Given the description of an element on the screen output the (x, y) to click on. 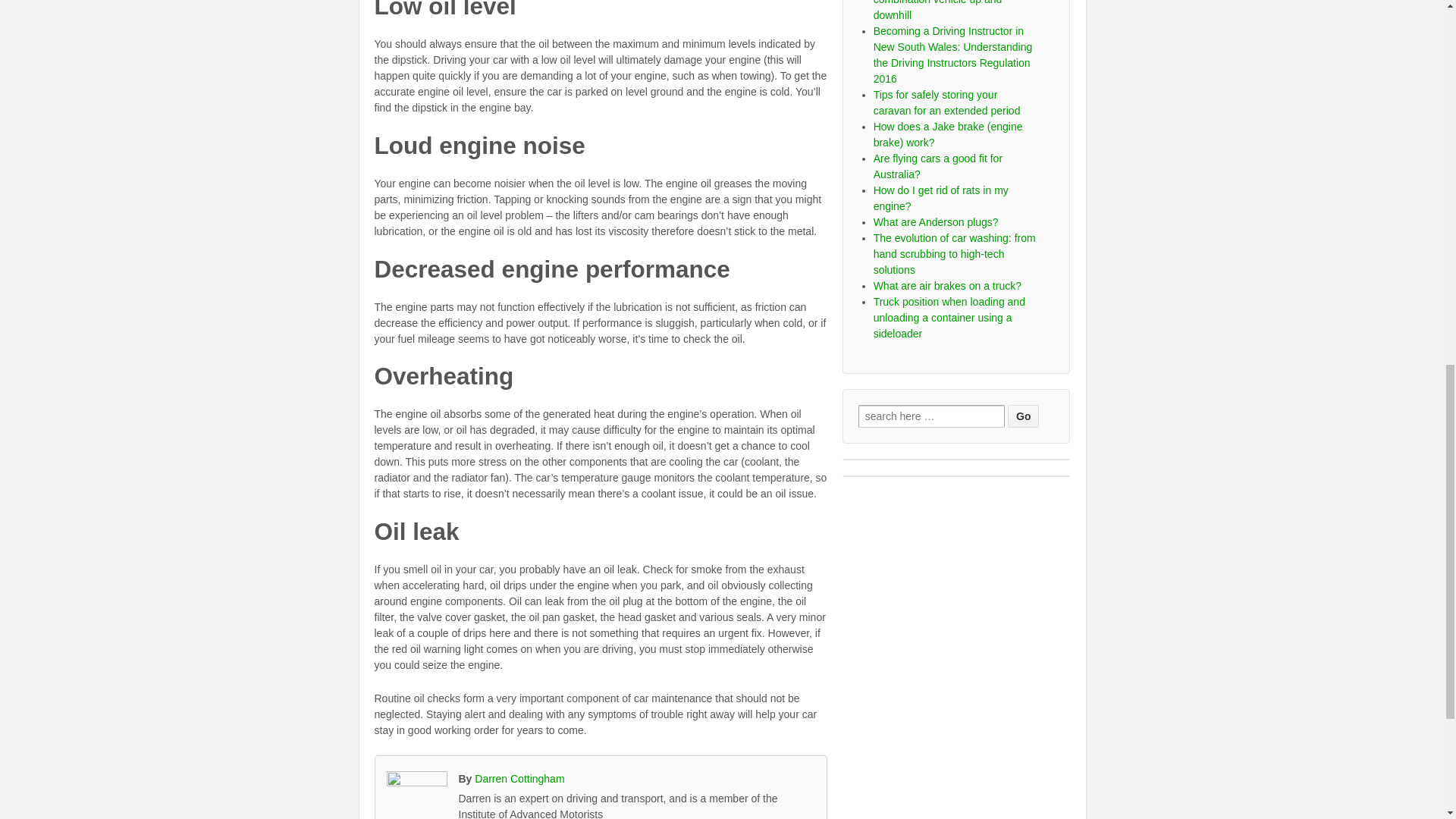
Tips for safely storing your caravan for an extended period (946, 102)
Are flying cars a good fit for Australia? (938, 166)
Darren Cottingham (519, 778)
Go (1023, 415)
How do I get rid of rats in my engine? (941, 198)
What are air brakes on a truck? (947, 285)
